Given the description of an element on the screen output the (x, y) to click on. 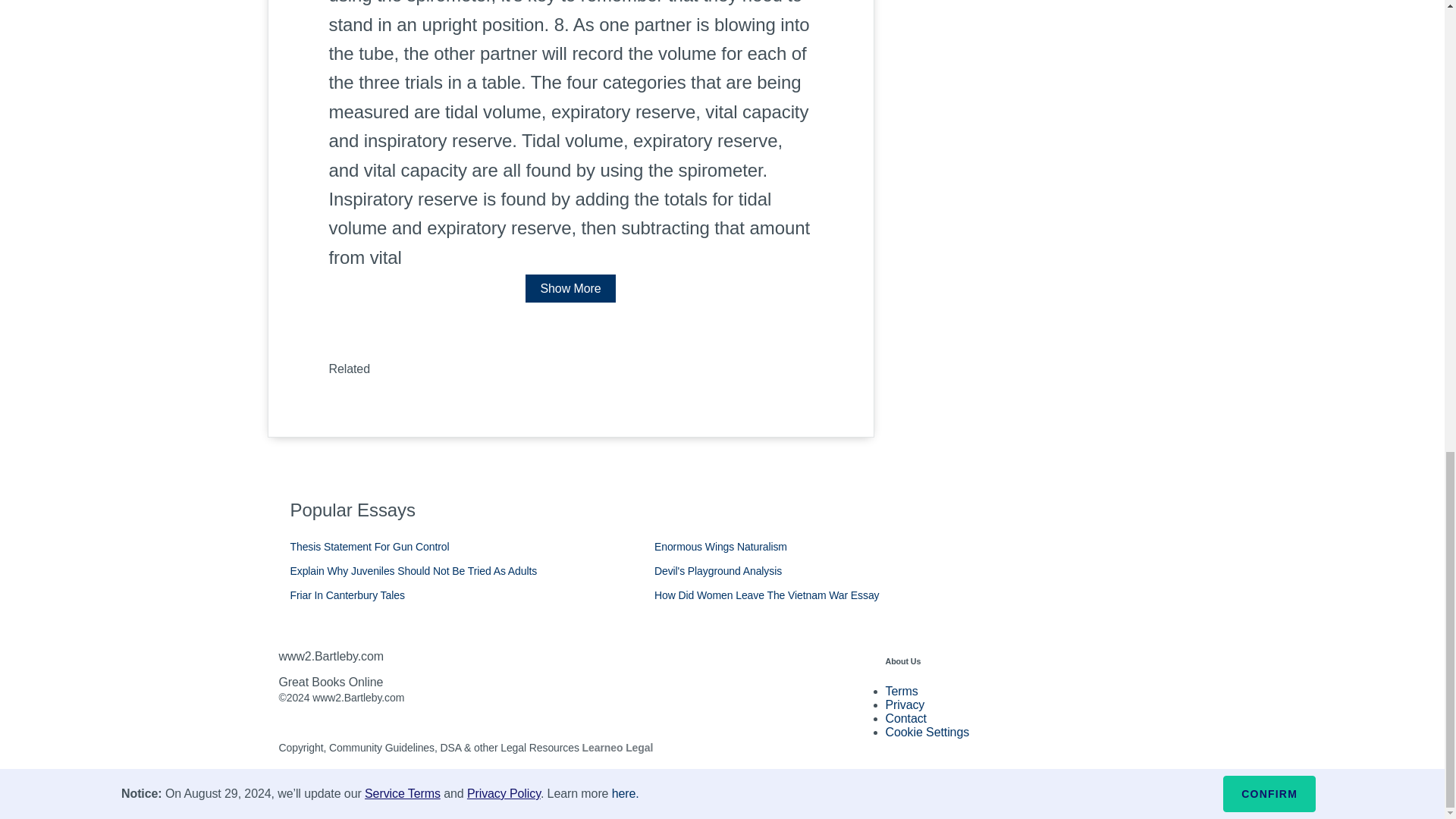
Terms (901, 690)
Cookie Settings (927, 731)
Explain Why Juveniles Should Not Be Tried As Adults (413, 571)
Contact (905, 717)
Explain Why Juveniles Should Not Be Tried As Adults (413, 571)
How Did Women Leave The Vietnam War Essay (766, 594)
Devil's Playground Analysis (717, 571)
Learneo Legal (617, 747)
Devil's Playground Analysis (717, 571)
Thesis Statement For Gun Control (368, 546)
